Given the description of an element on the screen output the (x, y) to click on. 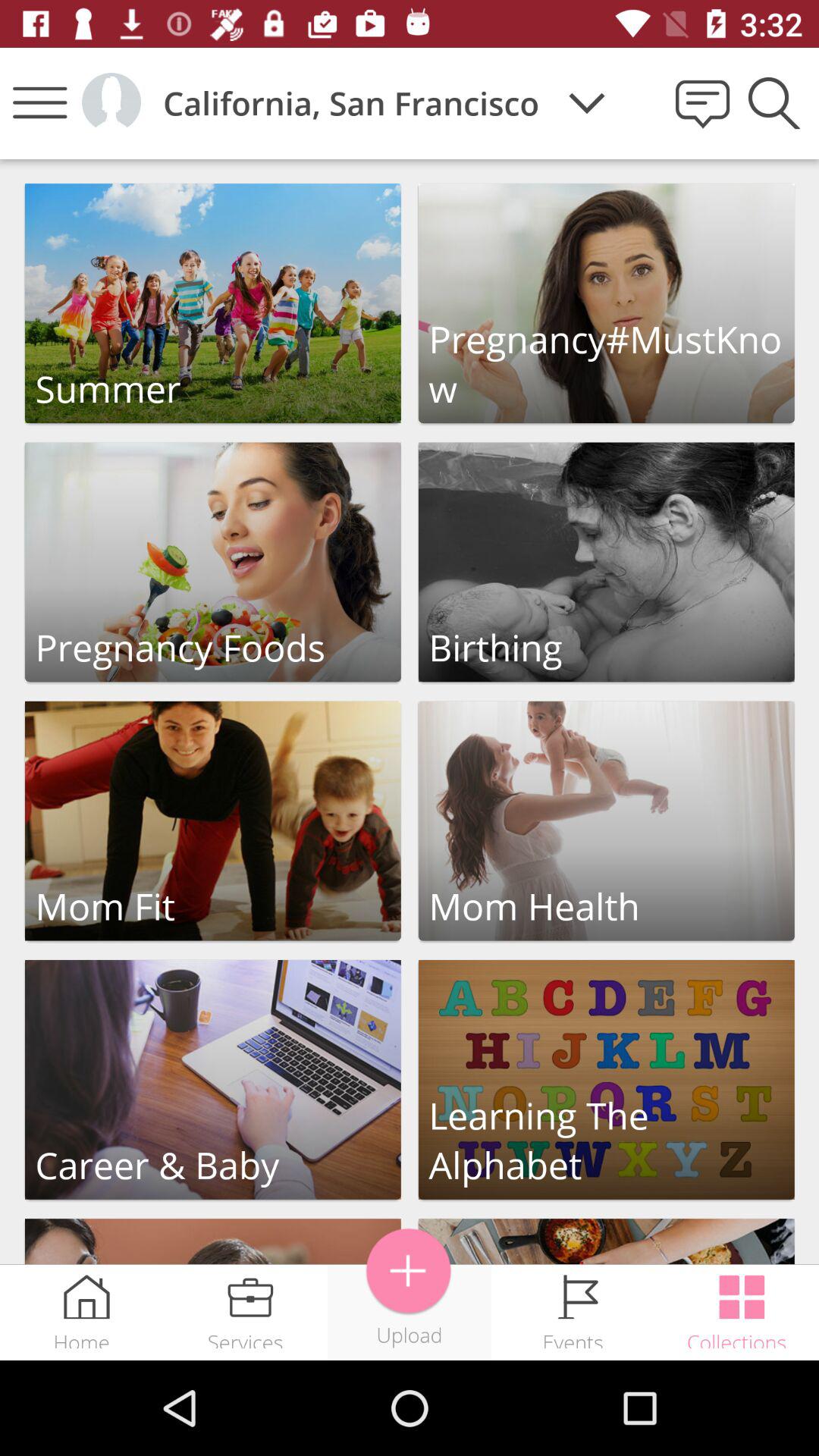
launch picture (606, 1241)
